Given the description of an element on the screen output the (x, y) to click on. 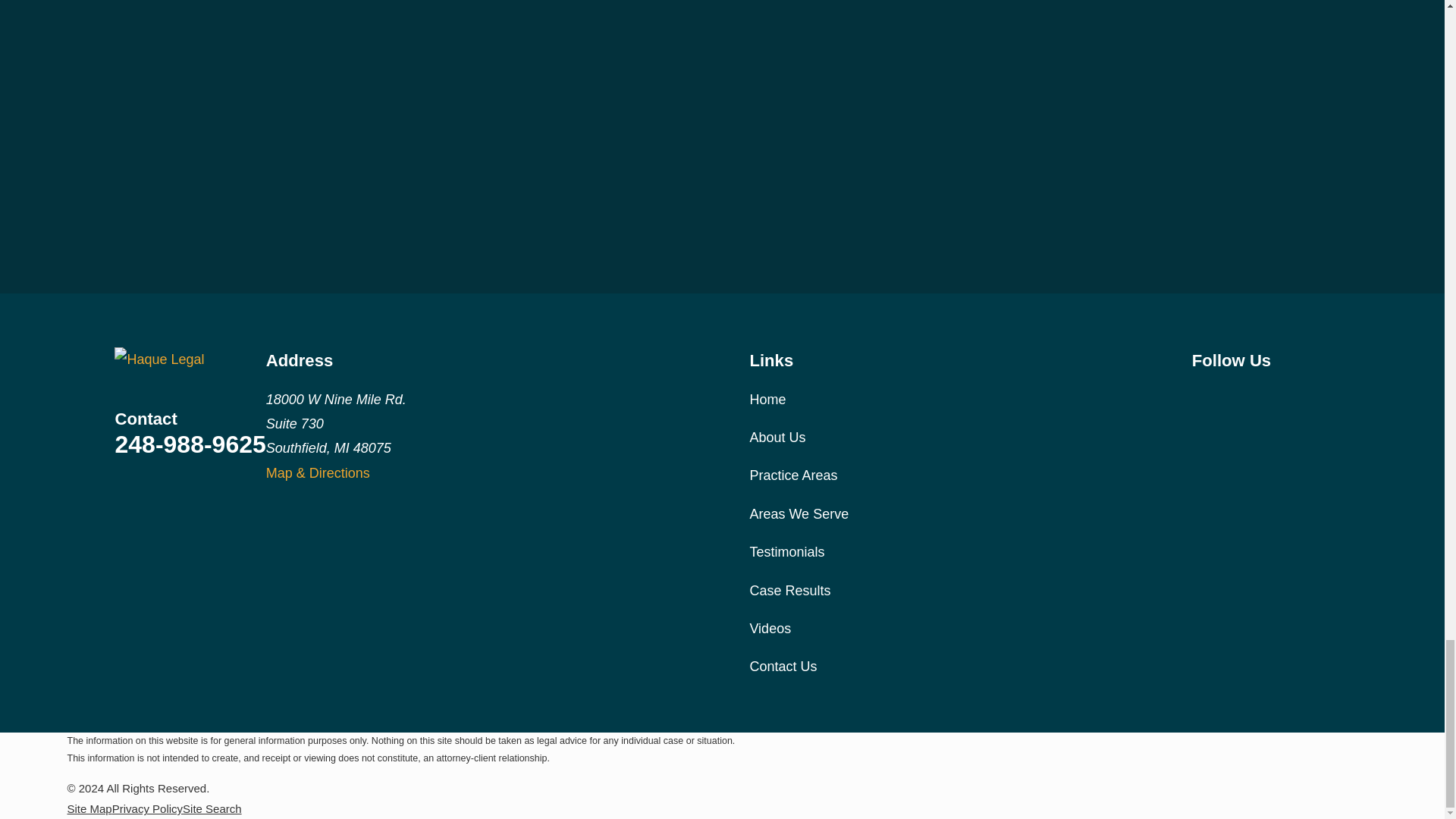
Home (189, 359)
YouTube (1280, 396)
LinkedIn (1319, 396)
Instagram (1240, 396)
Facebook (1201, 396)
